Given the description of an element on the screen output the (x, y) to click on. 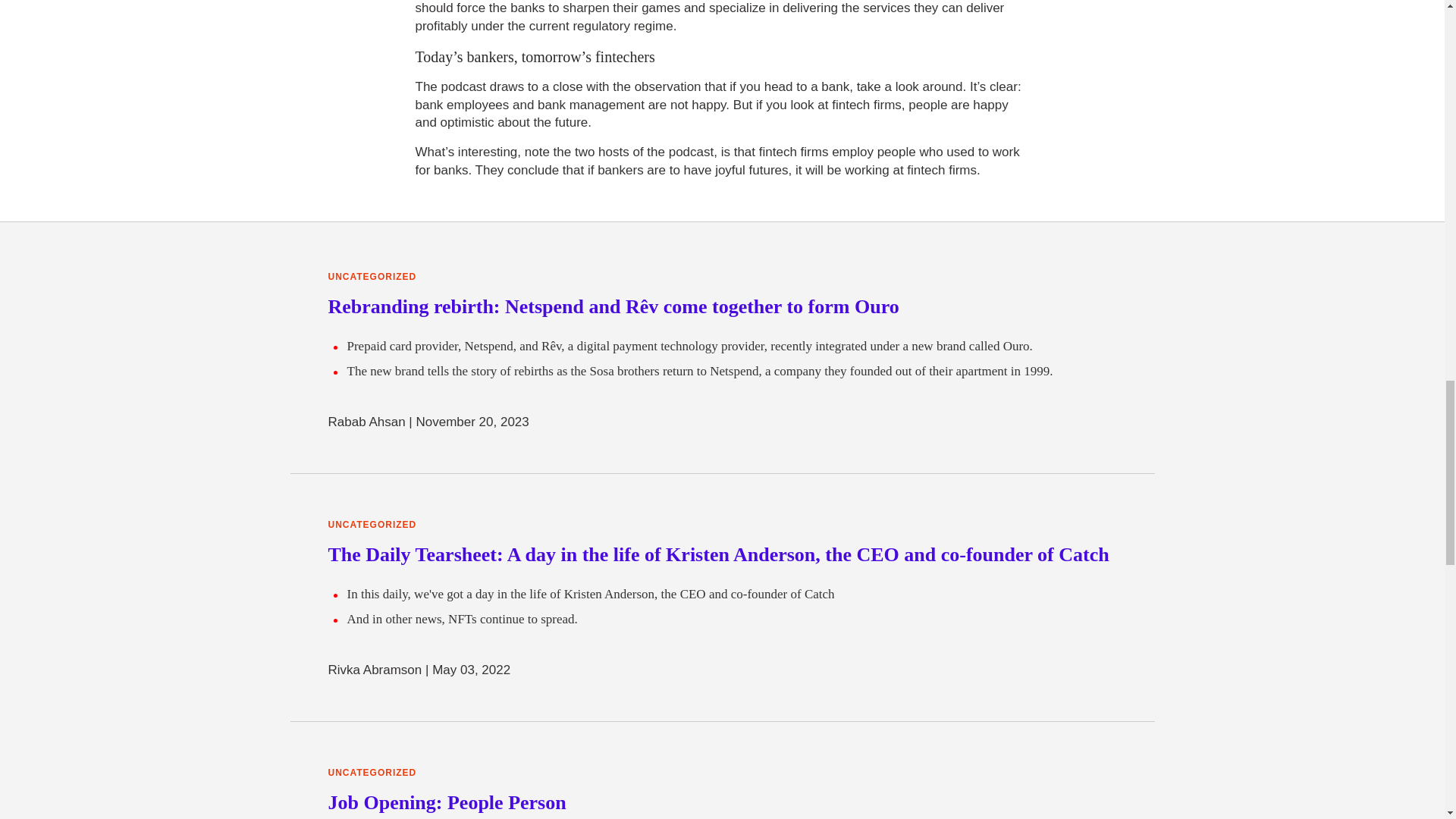
Uncategorized (371, 524)
Uncategorized (371, 773)
Uncategorized (371, 276)
